Given the description of an element on the screen output the (x, y) to click on. 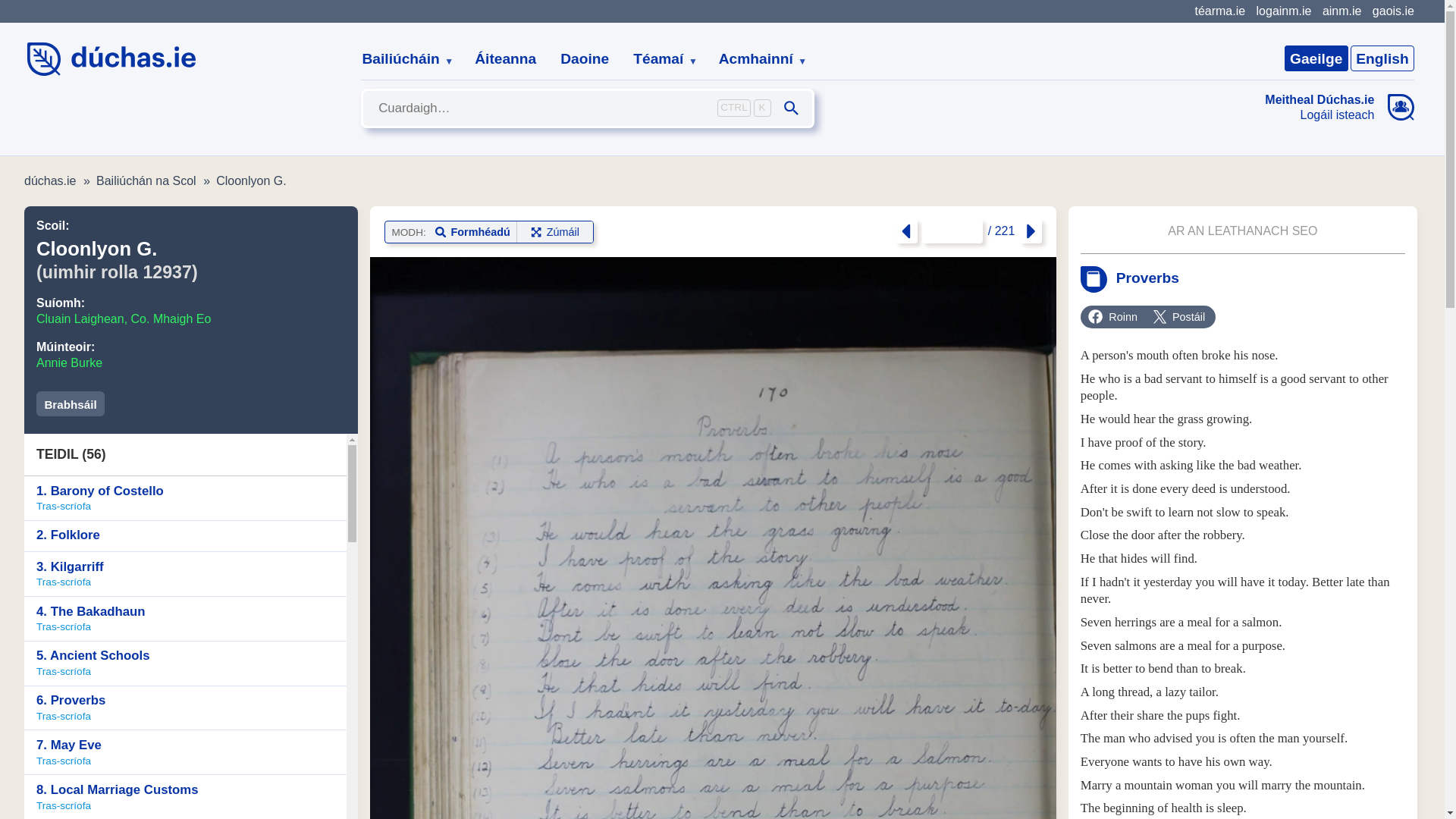
Daoine (584, 58)
Annie Burke (68, 362)
2. Folklore (185, 536)
gaois.ie (1393, 11)
logainm.ie (1283, 11)
Cluain Laighean, Co. Mhaigh Eo (123, 318)
Cloonlyon G. (250, 180)
ainm.ie (1341, 11)
English (1382, 58)
Gaeilge (1316, 58)
